Given the description of an element on the screen output the (x, y) to click on. 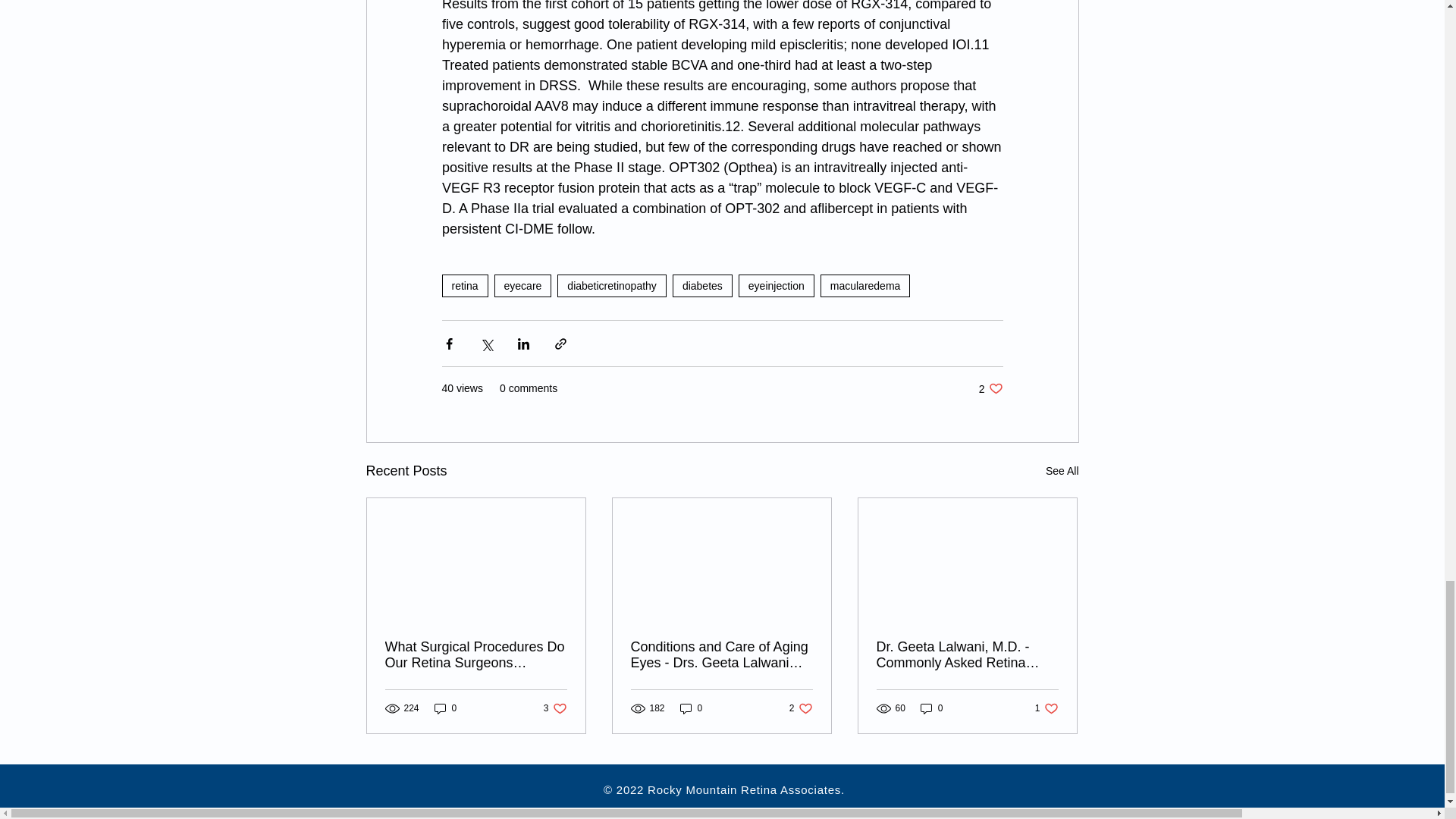
diabetes (702, 285)
eyeinjection (775, 285)
macularedema (866, 285)
retina (464, 285)
diabeticretinopathy (611, 285)
eyecare (523, 285)
